Given the description of an element on the screen output the (x, y) to click on. 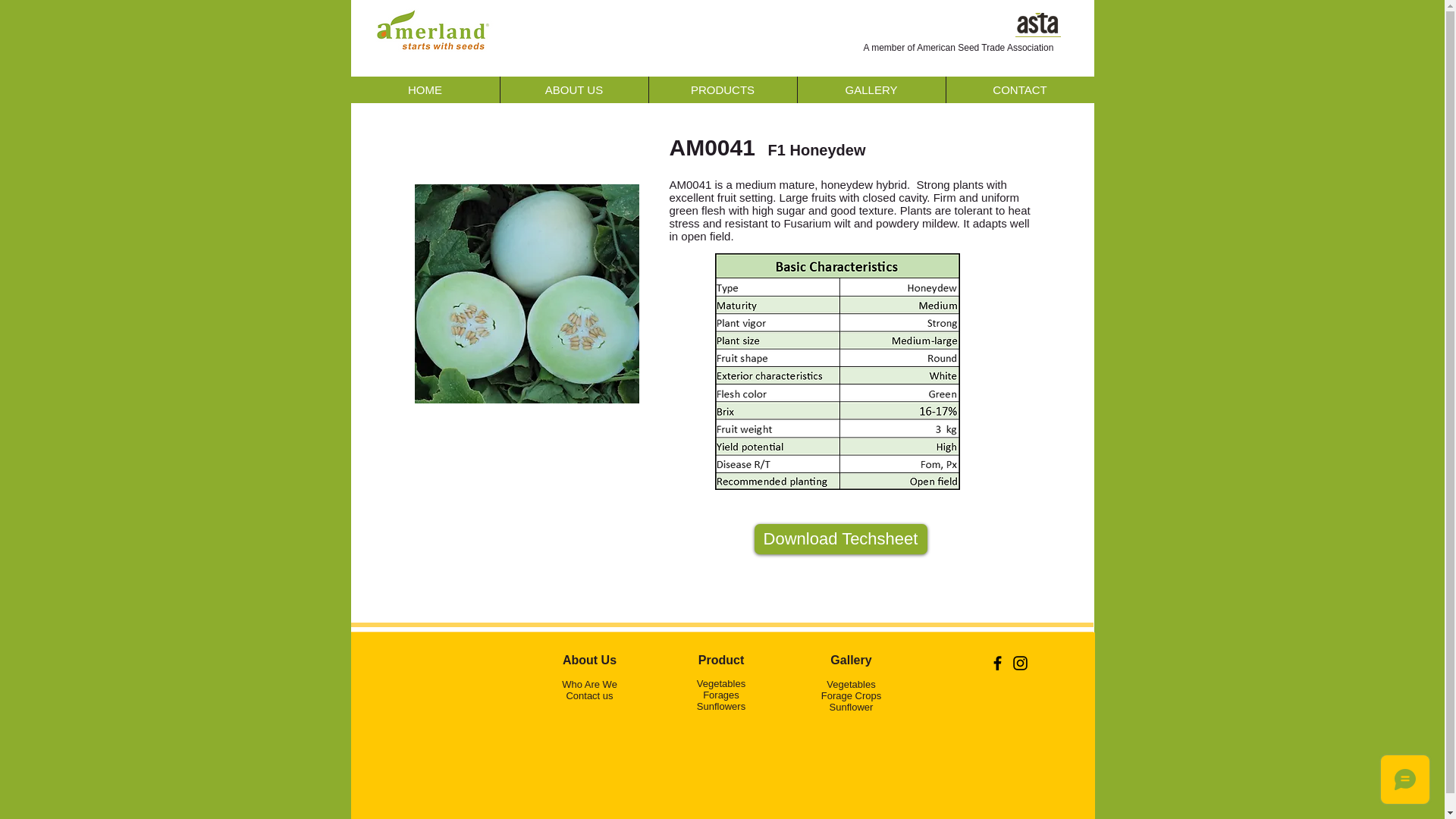
Who Are We (589, 684)
Vegetables (851, 684)
PRODUCTS (721, 89)
Sunflowers (721, 706)
GALLERY (870, 89)
Vegetables (721, 683)
Download Techsheet (840, 539)
Forage Crops (850, 695)
Contact us (589, 695)
CONTACT (1018, 89)
